Given the description of an element on the screen output the (x, y) to click on. 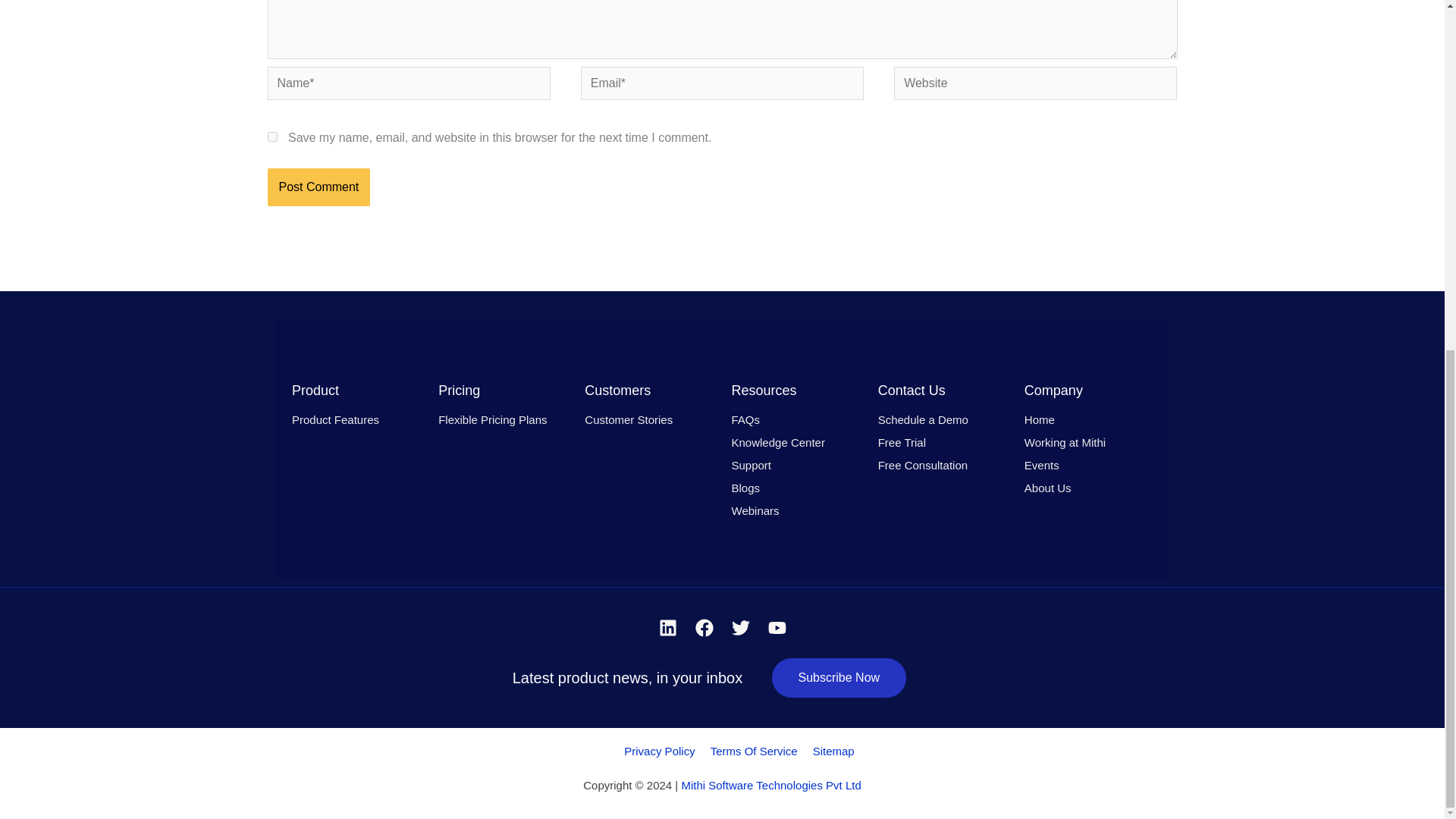
Post Comment (317, 187)
yes (271, 136)
